Given the description of an element on the screen output the (x, y) to click on. 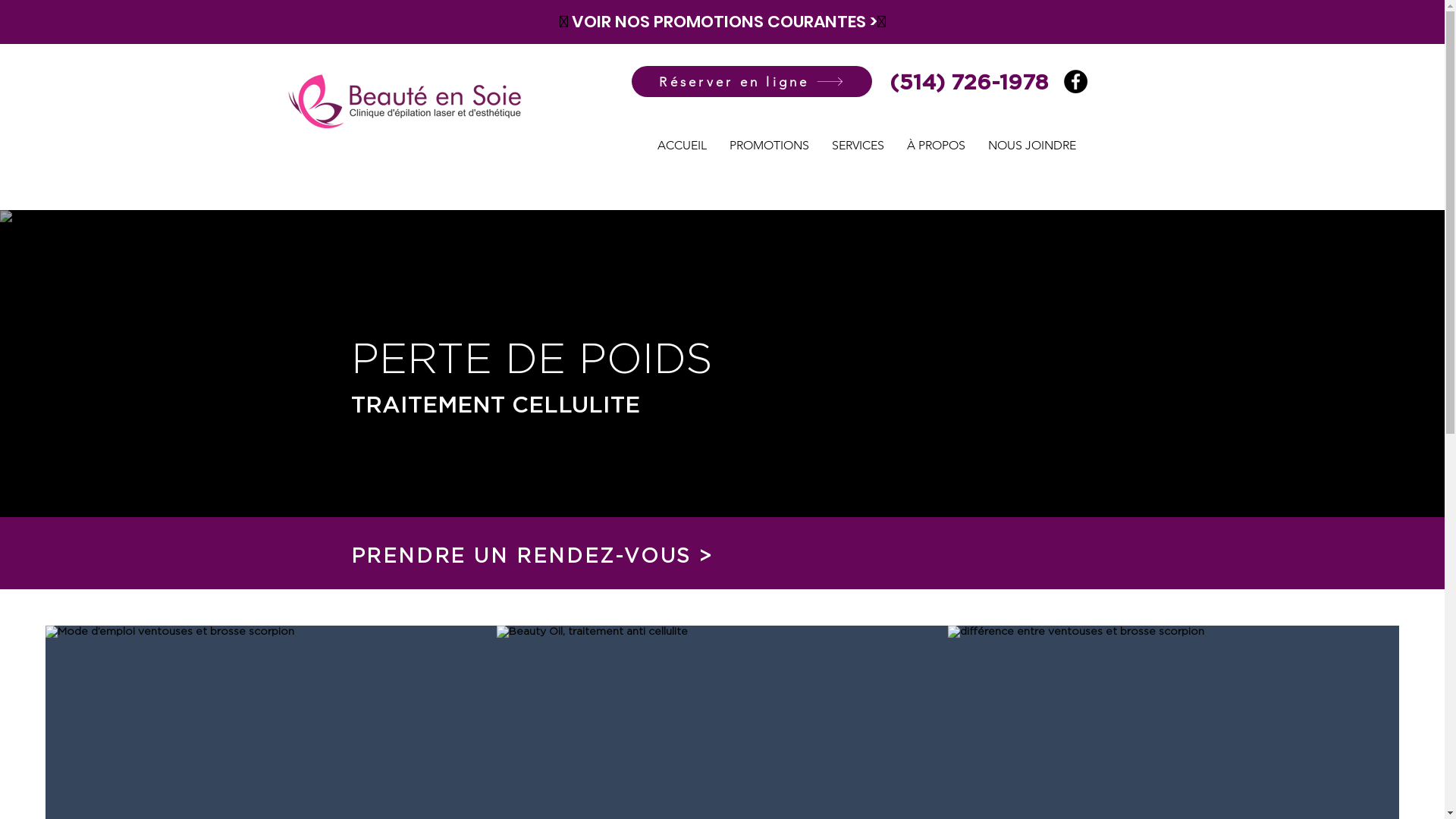
ACCUEIL Element type: text (682, 145)
PERTE DE POIDS Element type: text (531, 360)
VOIR NOS PROMOTIONS COURANTES > Element type: text (724, 20)
(514) 726-1978 Element type: text (967, 83)
NOUS JOINDRE Element type: text (1031, 145)
PROMOTIONS Element type: text (768, 145)
PRENDRE UN RENDEZ-VOUS > Element type: text (531, 556)
